Given the description of an element on the screen output the (x, y) to click on. 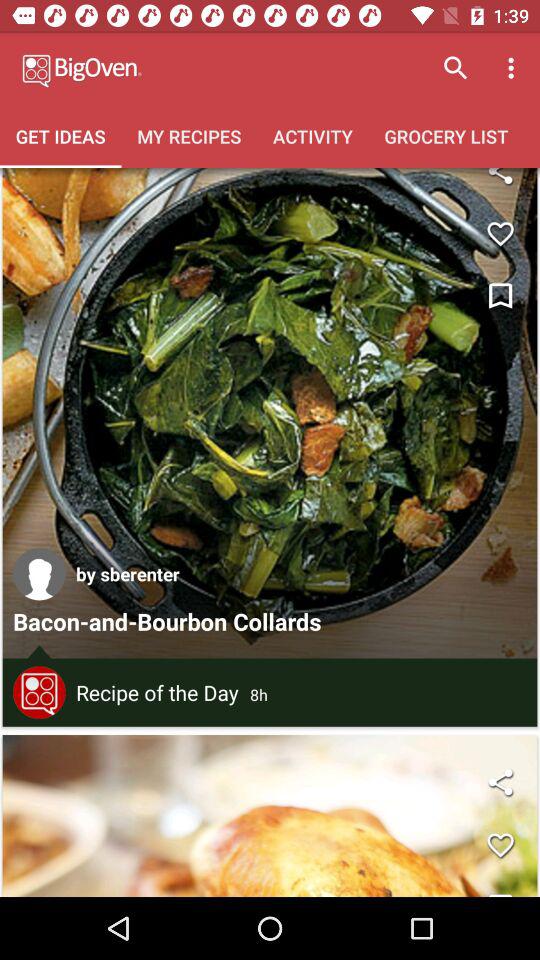
share the article (500, 782)
